Given the description of an element on the screen output the (x, y) to click on. 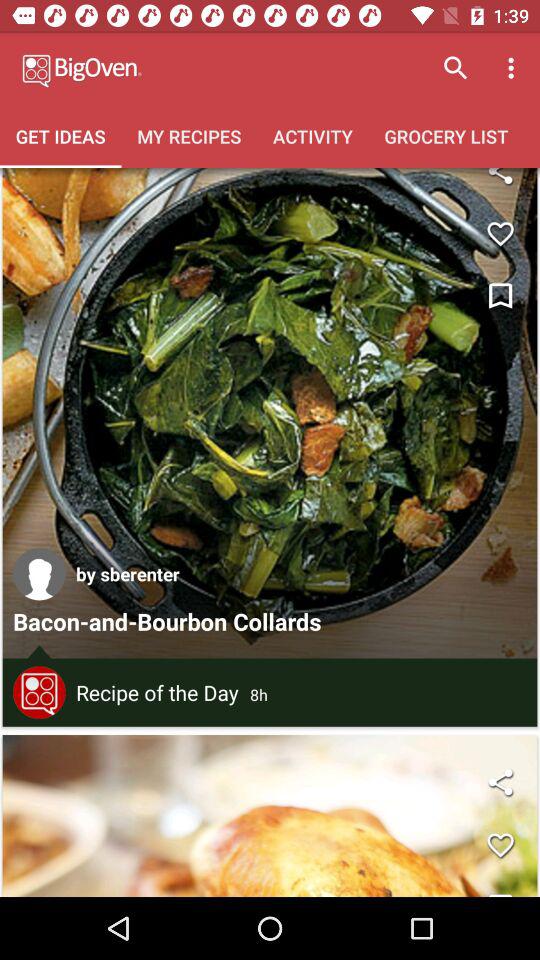
share the article (500, 782)
